Given the description of an element on the screen output the (x, y) to click on. 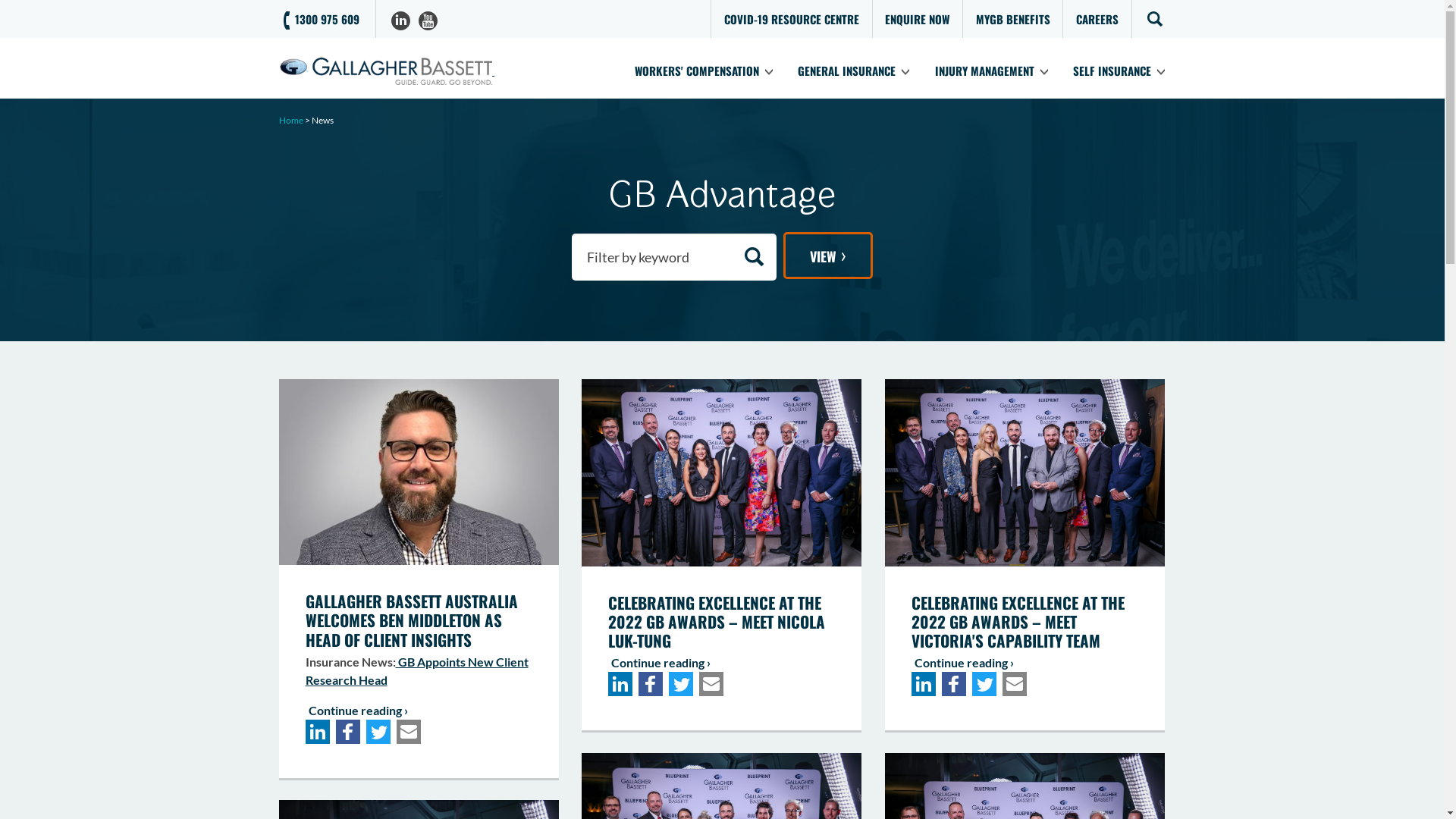
SELF INSURANCE Element type: text (1118, 70)
MYGB BENEFITS Element type: text (1012, 18)
Send Element type: text (612, 781)
GB Appoints New Client Research Head Element type: text (415, 670)
1300 975 609 Element type: text (321, 18)
VIEW Element type: text (827, 255)
CAREERS Element type: text (1097, 18)
  Element type: text (410, 70)
GENERAL INSURANCE Element type: text (853, 70)
COVID-19 RESOURCE CENTRE Element type: text (791, 18)
INJURY MANAGEMENT Element type: text (991, 70)
Home Element type: text (291, 119)
WORKERS' COMPENSATION Element type: text (702, 70)
ENQUIRE NOW Element type: text (916, 18)
